Given the description of an element on the screen output the (x, y) to click on. 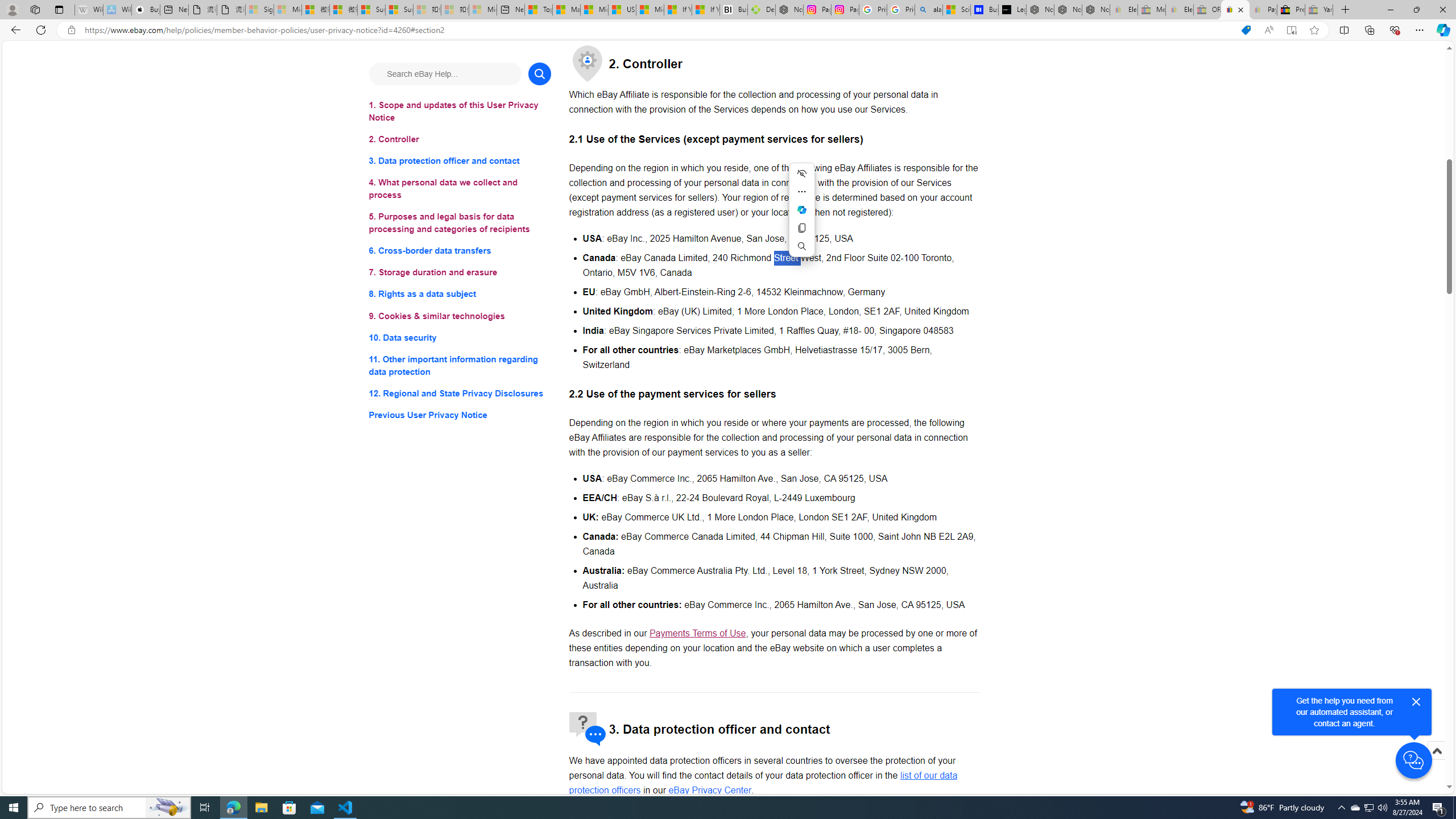
Mini menu on text selection (802, 216)
4. What personal data we collect and process (459, 189)
7. Storage duration and erasure (459, 272)
Payments Terms of Use - opens in new window or tab (697, 633)
10. Data security (459, 336)
Copy (801, 227)
